Given the description of an element on the screen output the (x, y) to click on. 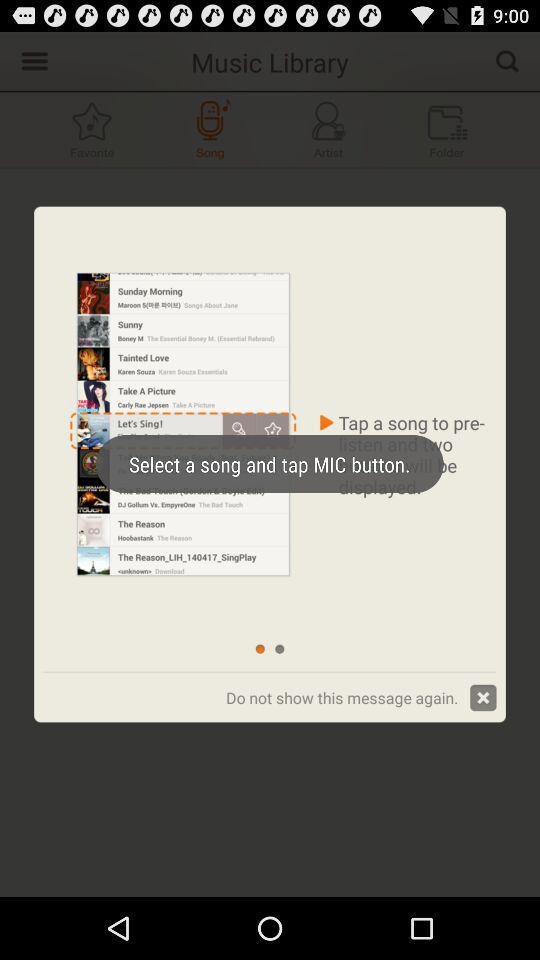
clip to hear the song (210, 129)
